Given the description of an element on the screen output the (x, y) to click on. 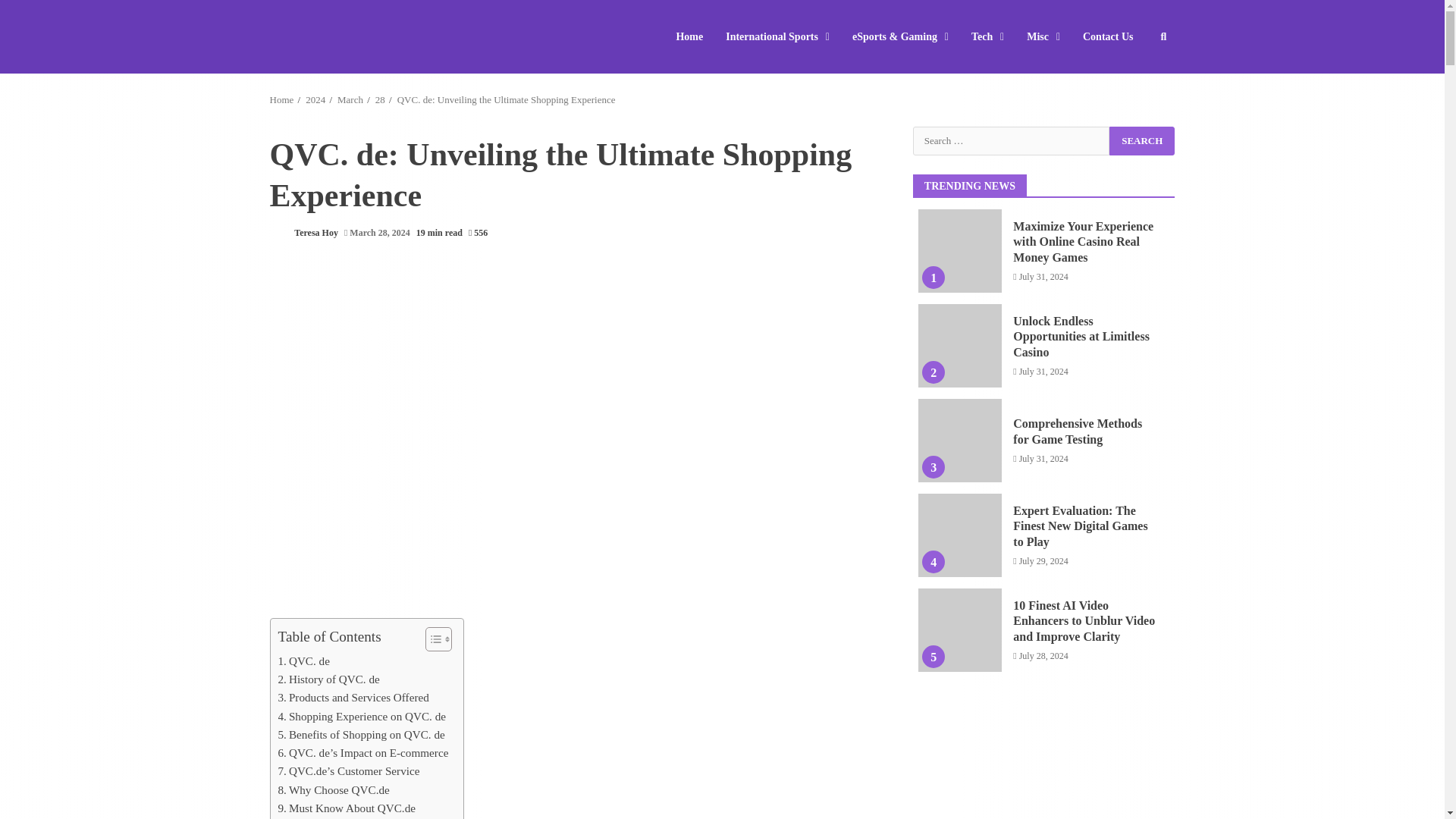
Products and Services Offered (353, 697)
QVC. de (303, 660)
Must Know About QVC.de (346, 808)
History of QVC. de (328, 679)
Search (1141, 140)
Home (694, 36)
Shopping Experience on QVC. de (361, 716)
Products and Services Offered (353, 697)
Contact Us (1102, 36)
Tech (986, 36)
